Given the description of an element on the screen output the (x, y) to click on. 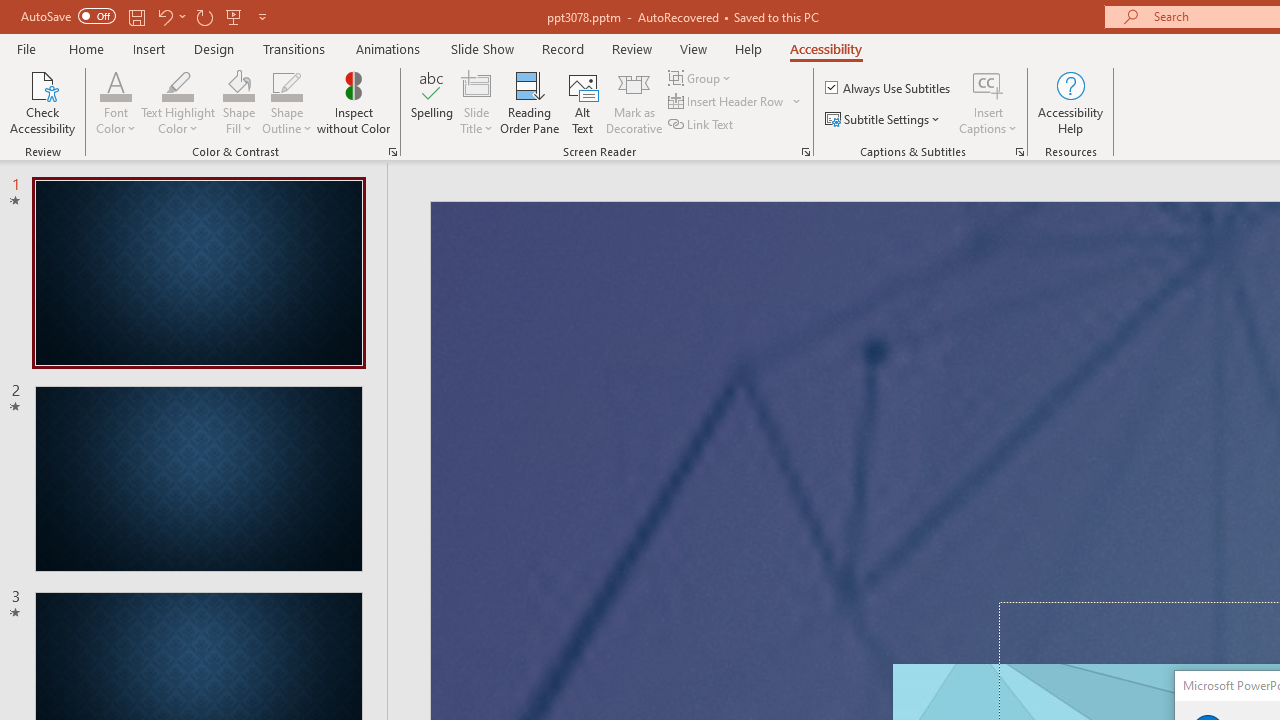
Spelling... (432, 102)
Slide Title (476, 84)
Subtitle Settings (884, 119)
Color & Contrast (392, 151)
Slide Title (476, 102)
